Given the description of an element on the screen output the (x, y) to click on. 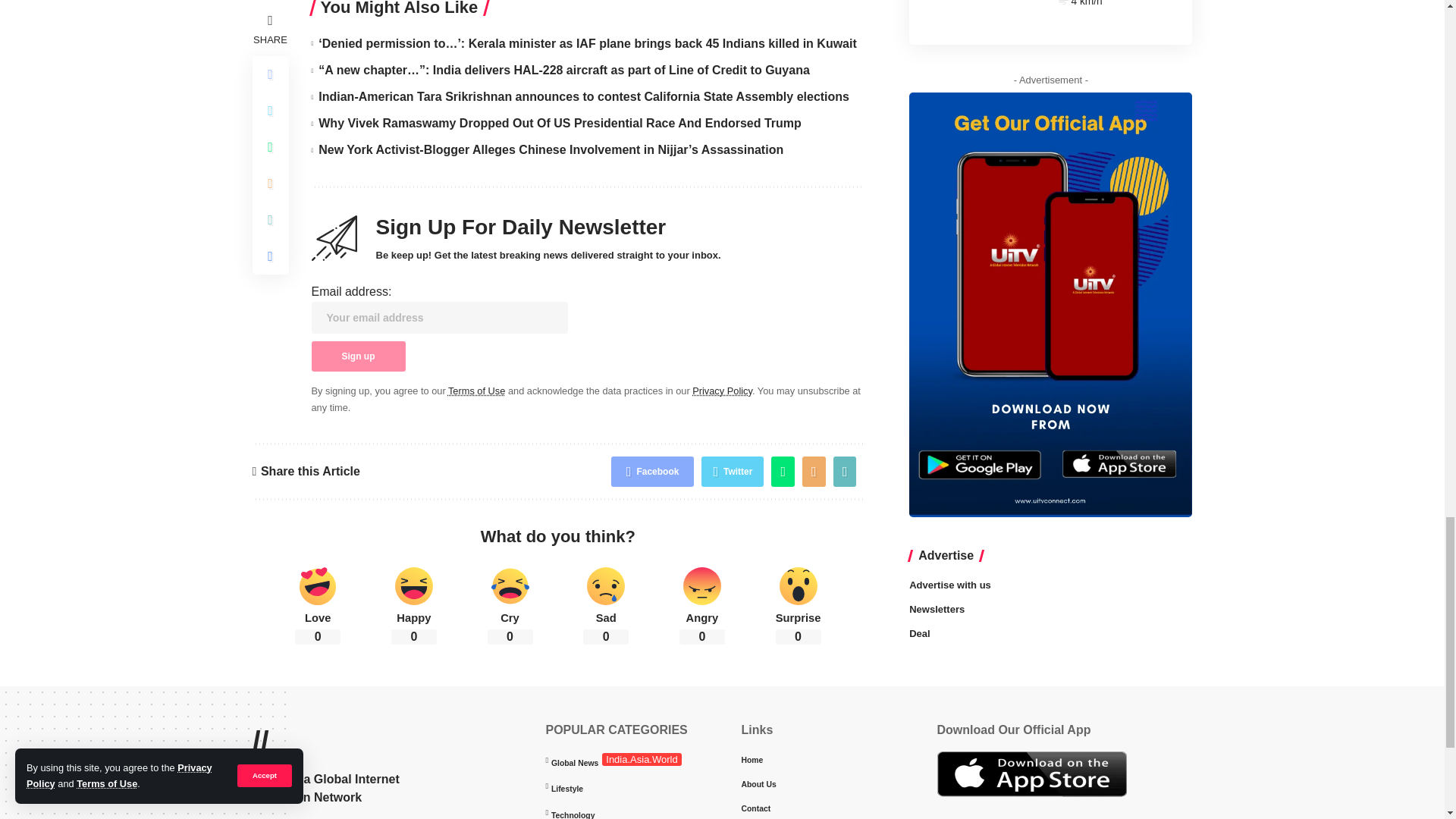
Sign up (357, 356)
